Given the description of an element on the screen output the (x, y) to click on. 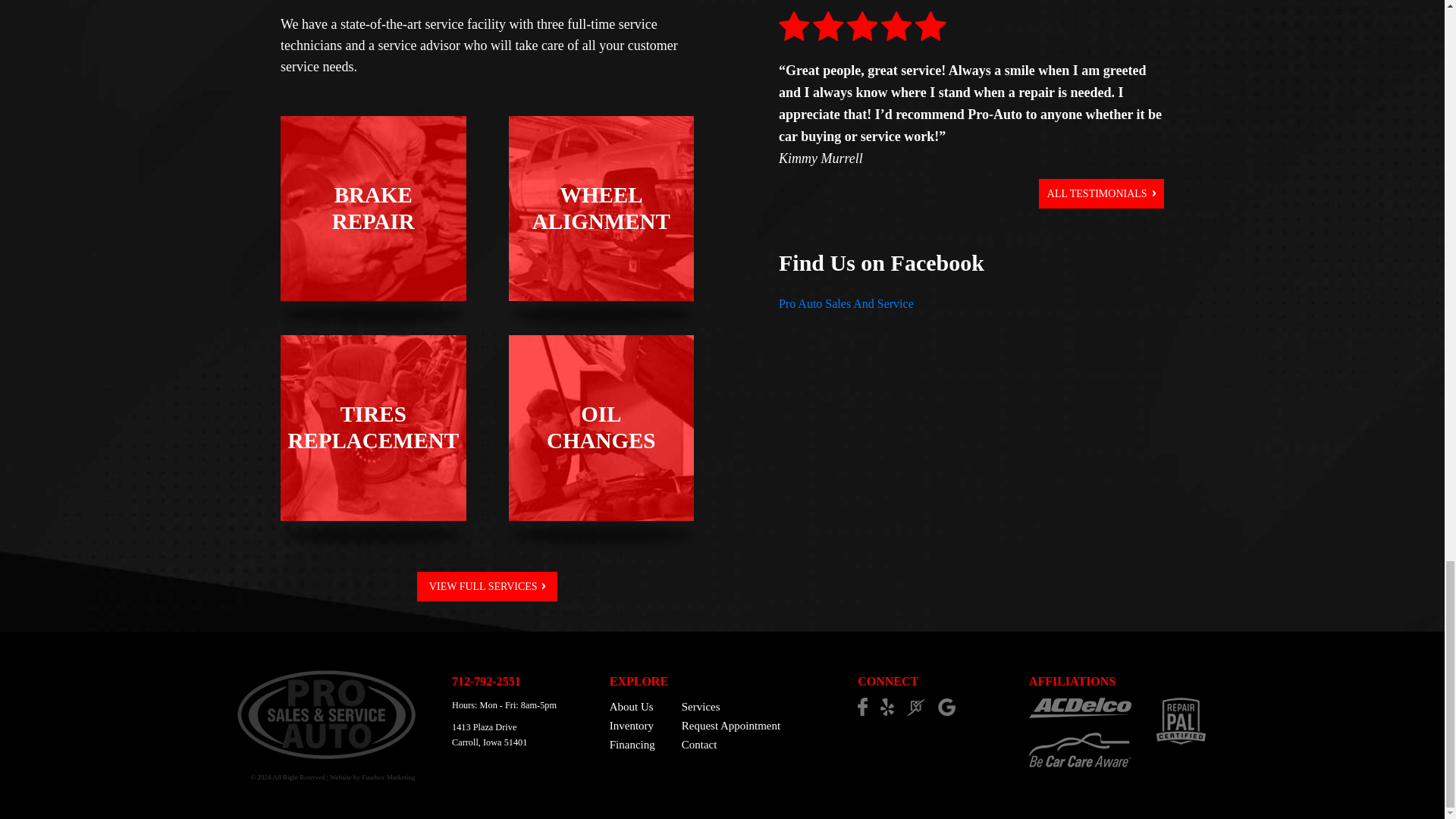
Request Appointment (730, 725)
About Us (632, 706)
VIEW FULL SERVICES (601, 427)
Inventory (486, 586)
Contact (632, 725)
Financing (730, 744)
Services (632, 744)
